Given the description of an element on the screen output the (x, y) to click on. 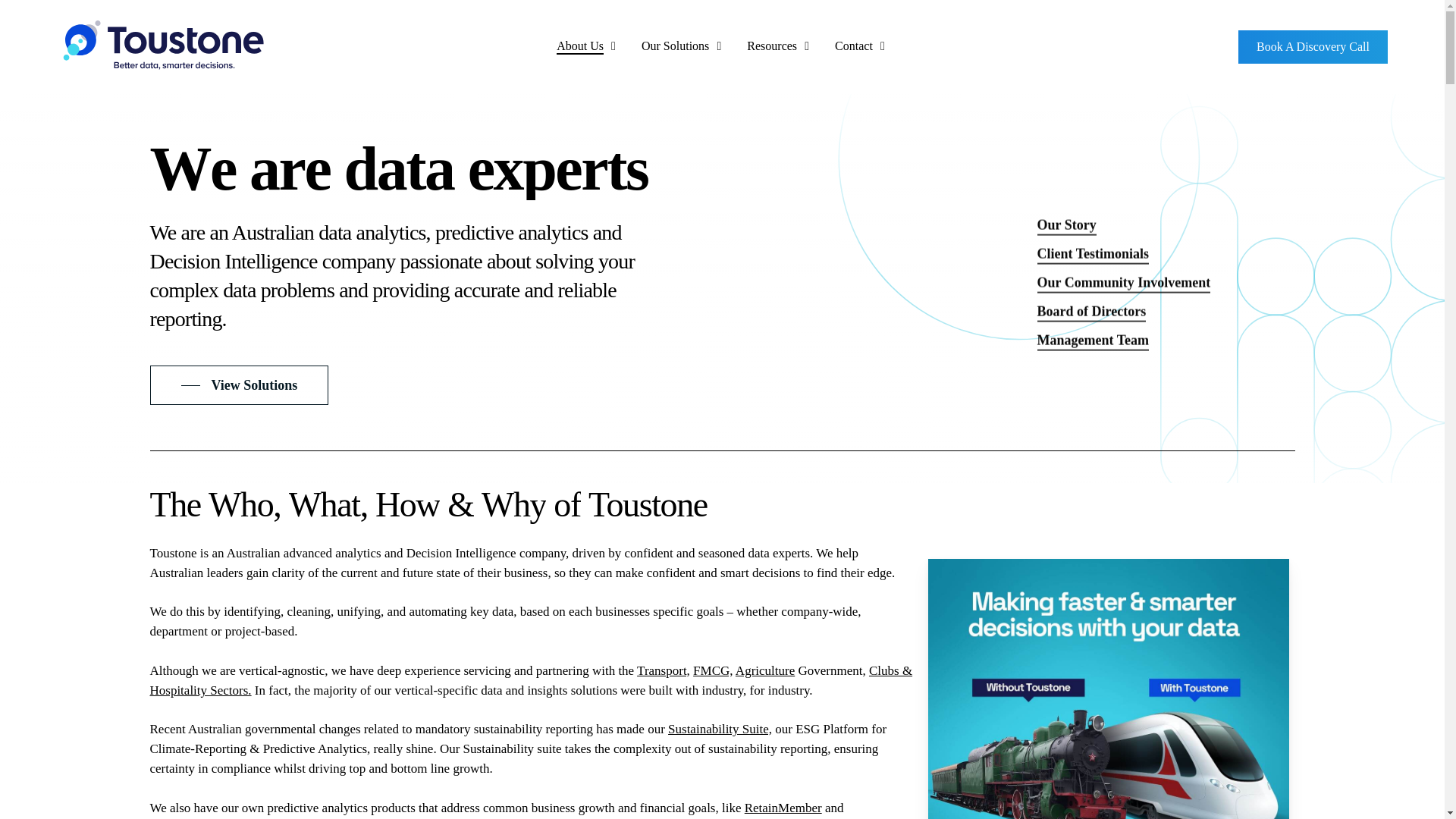
Our Solutions (682, 46)
Book A Discovery Call (1313, 46)
Toustone RetainMember Solution (783, 807)
Resources (779, 46)
Management Team (1093, 339)
Toustone Sustainability Suite Solution (719, 728)
View Solutions (238, 384)
Our Community Involvement (1123, 281)
Contact (861, 46)
Toustone Club Solution Case Study: Bankstown Sports Club (530, 680)
